Given the description of an element on the screen output the (x, y) to click on. 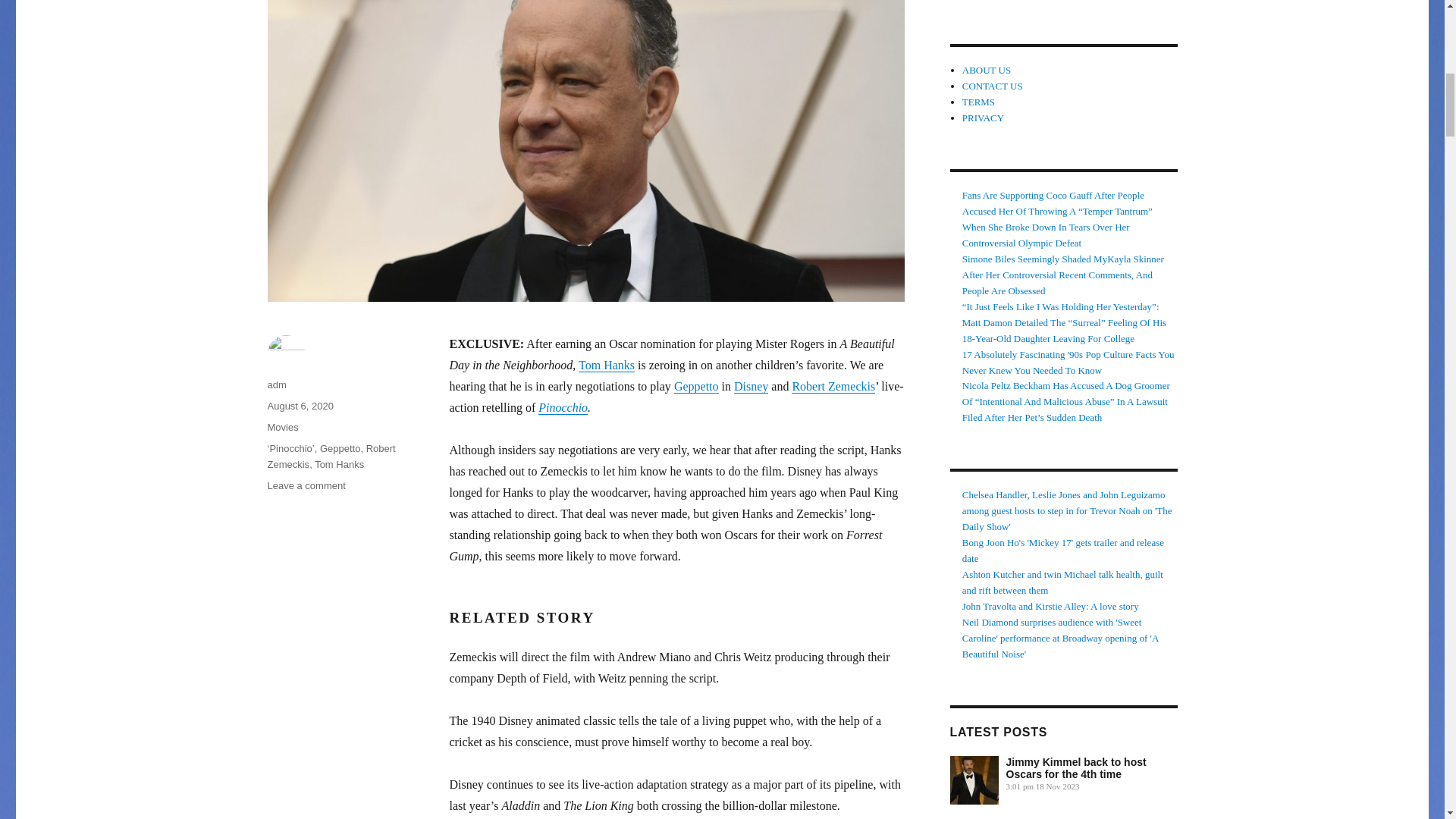
Pinocchio (563, 407)
Tom Hanks (606, 364)
Robert Zemeckis (833, 386)
Geppetto (340, 448)
Geppetto (696, 386)
Tom Hanks (339, 464)
Movies (282, 427)
August 6, 2020 (299, 405)
Disney (750, 386)
adm (275, 384)
Robert Zemeckis (330, 456)
